Given the description of an element on the screen output the (x, y) to click on. 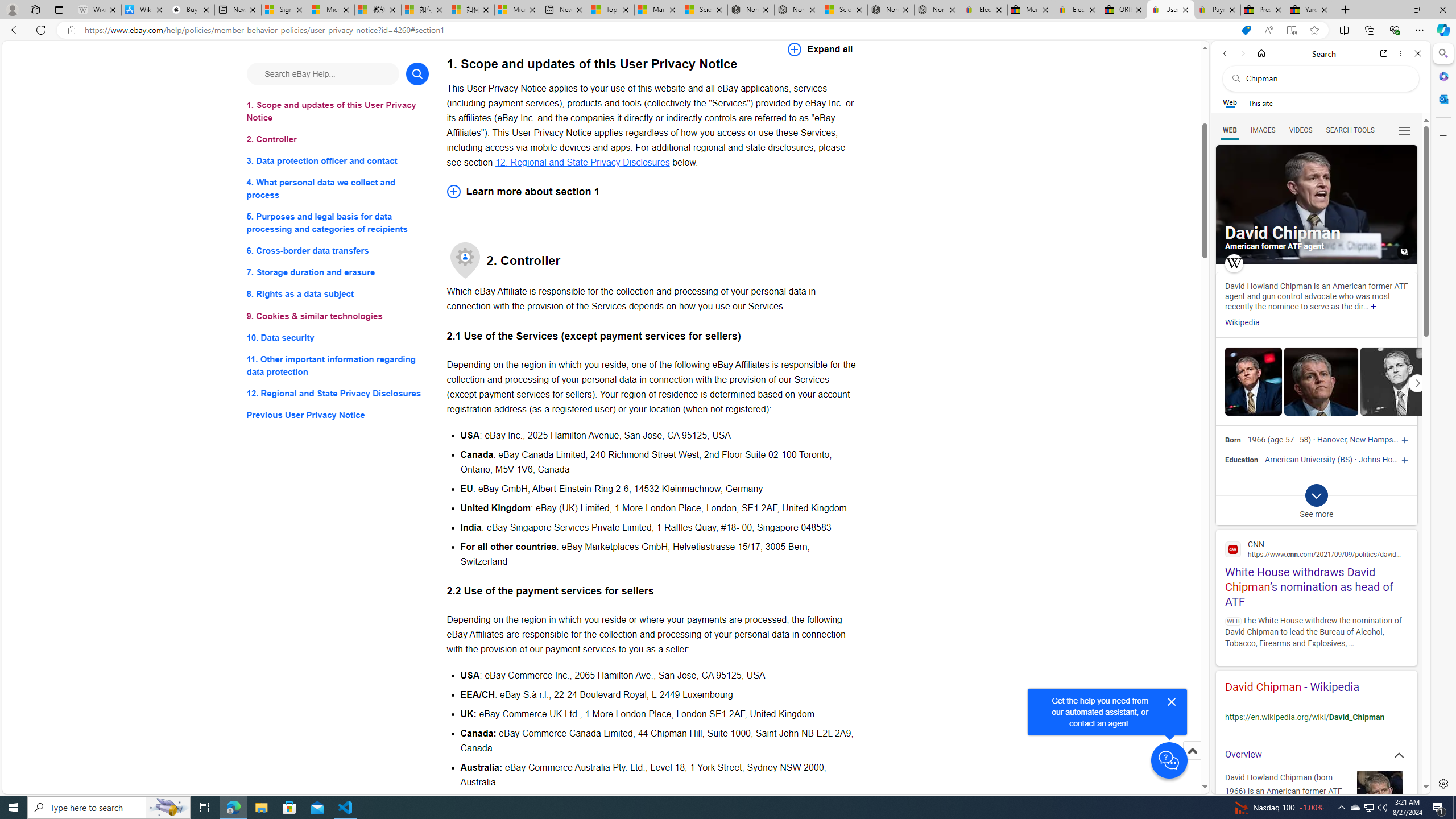
Wikipedia (1241, 322)
Search the web (1326, 78)
1. Scope and updates of this User Privacy Notice (337, 111)
Buy iPad - Apple (191, 9)
6. Cross-border data transfers (337, 250)
Marine life - MSN (656, 9)
Class: b_exp_chevron_svg b_expmob_chev (1315, 495)
BS (1344, 460)
3. Data protection officer and contact (337, 160)
Microsoft account | Account Checkup (517, 9)
Actions for this site (1390, 708)
